Given the description of an element on the screen output the (x, y) to click on. 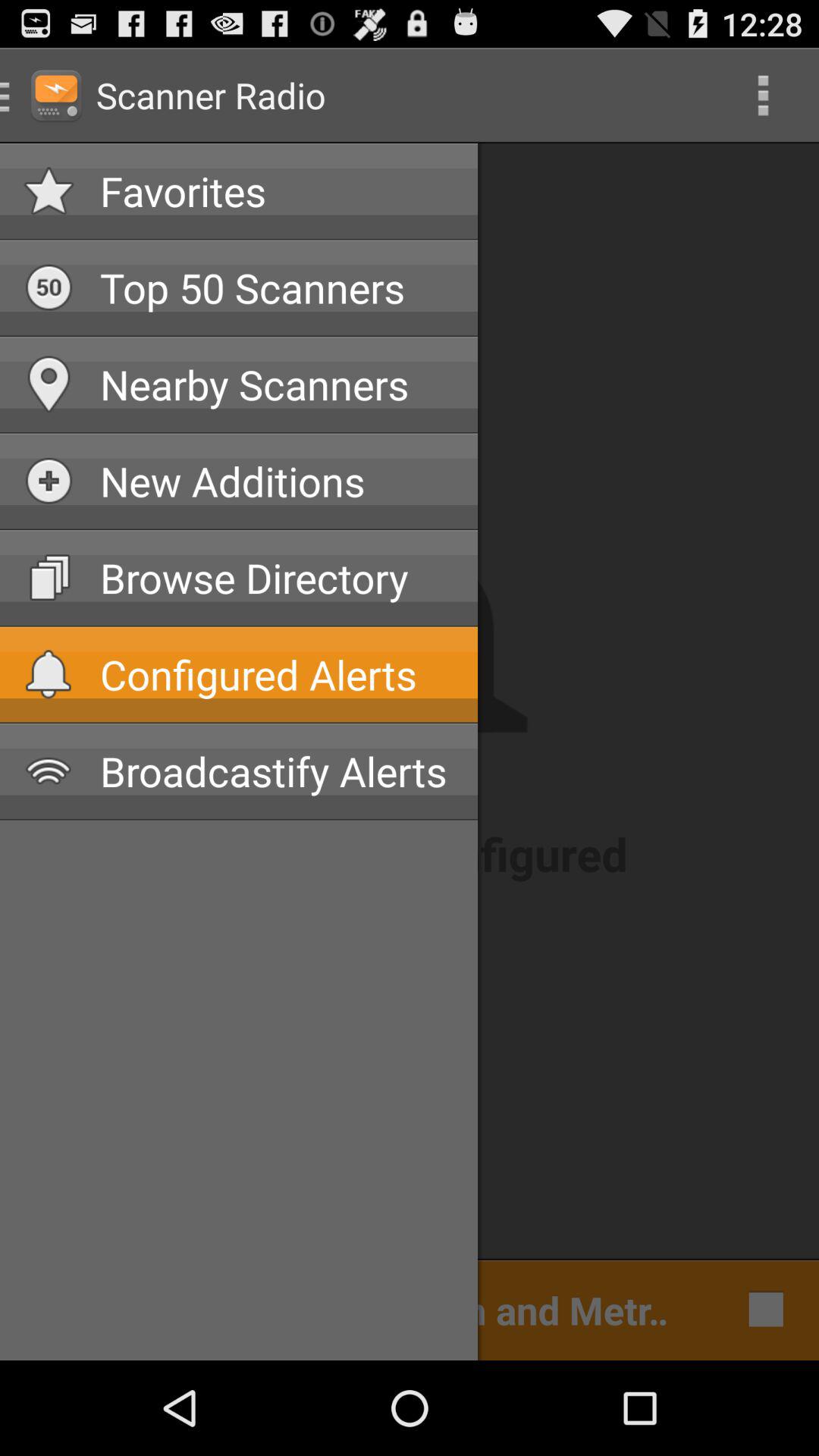
scroll to top 50 scanners app (276, 287)
